Given the description of an element on the screen output the (x, y) to click on. 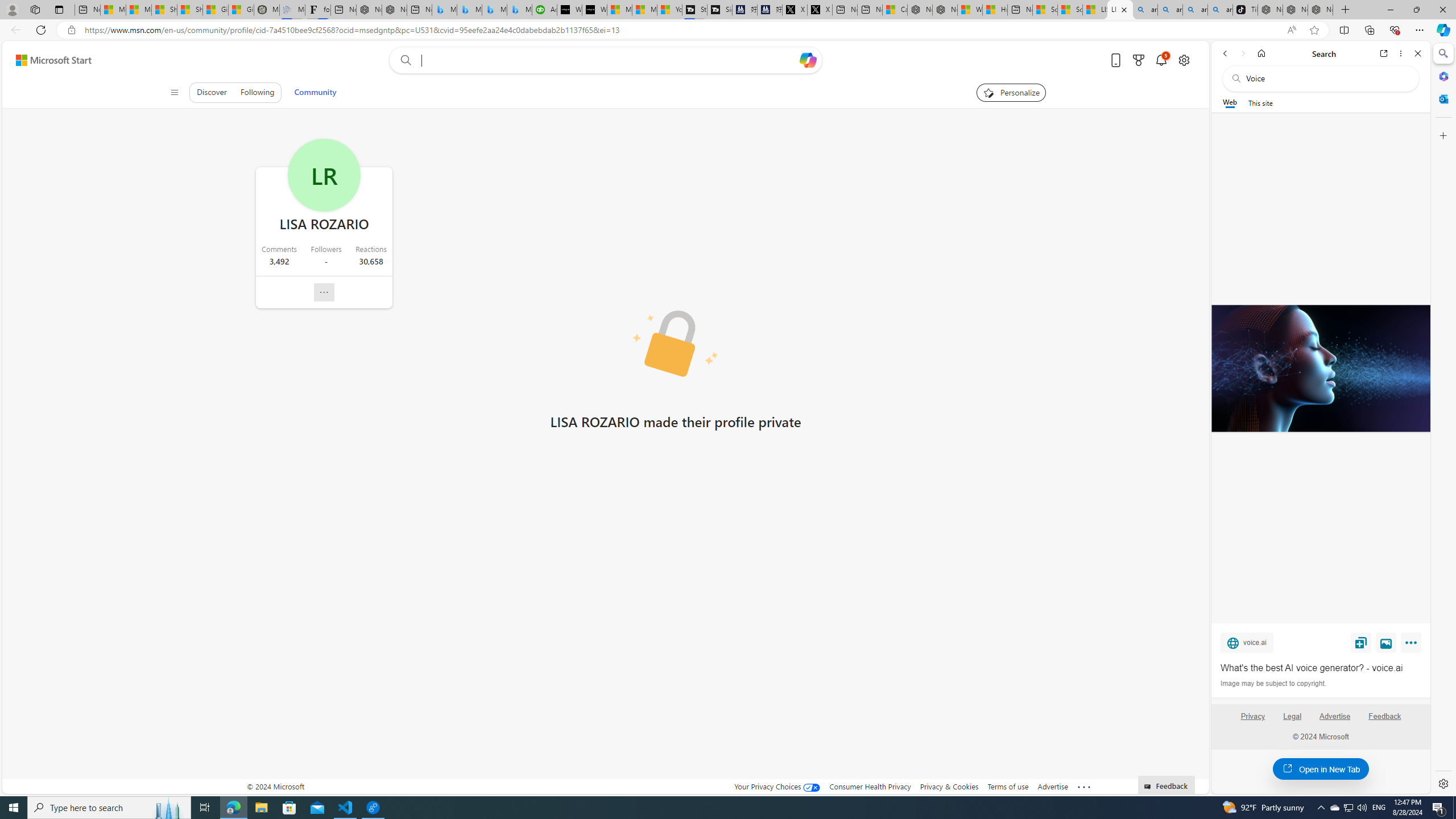
Home (1261, 53)
Save (1361, 642)
Search the web (1326, 78)
Nordace - Siena Pro 15 Essential Set (1320, 9)
Feedback (1384, 715)
Privacy (1252, 720)
Legal (1291, 715)
Nordace Siena Pro 15 Backpack (1295, 9)
Terms of use (1008, 786)
Manatee Mortality Statistics | FWC (265, 9)
Forward (1242, 53)
